Given the description of an element on the screen output the (x, y) to click on. 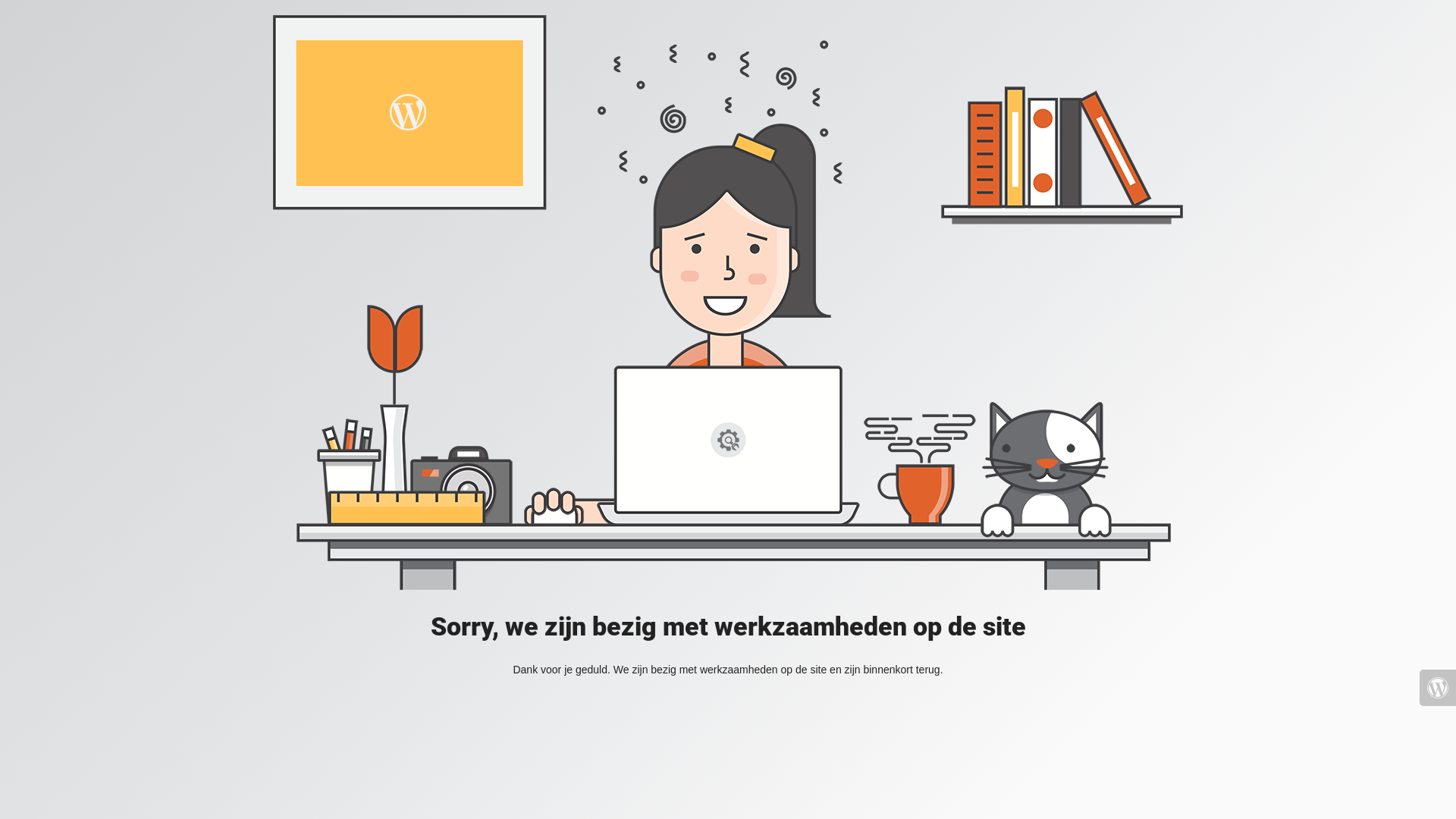
Cyber Chick at work Element type: hover (728, 302)
